Given the description of an element on the screen output the (x, y) to click on. 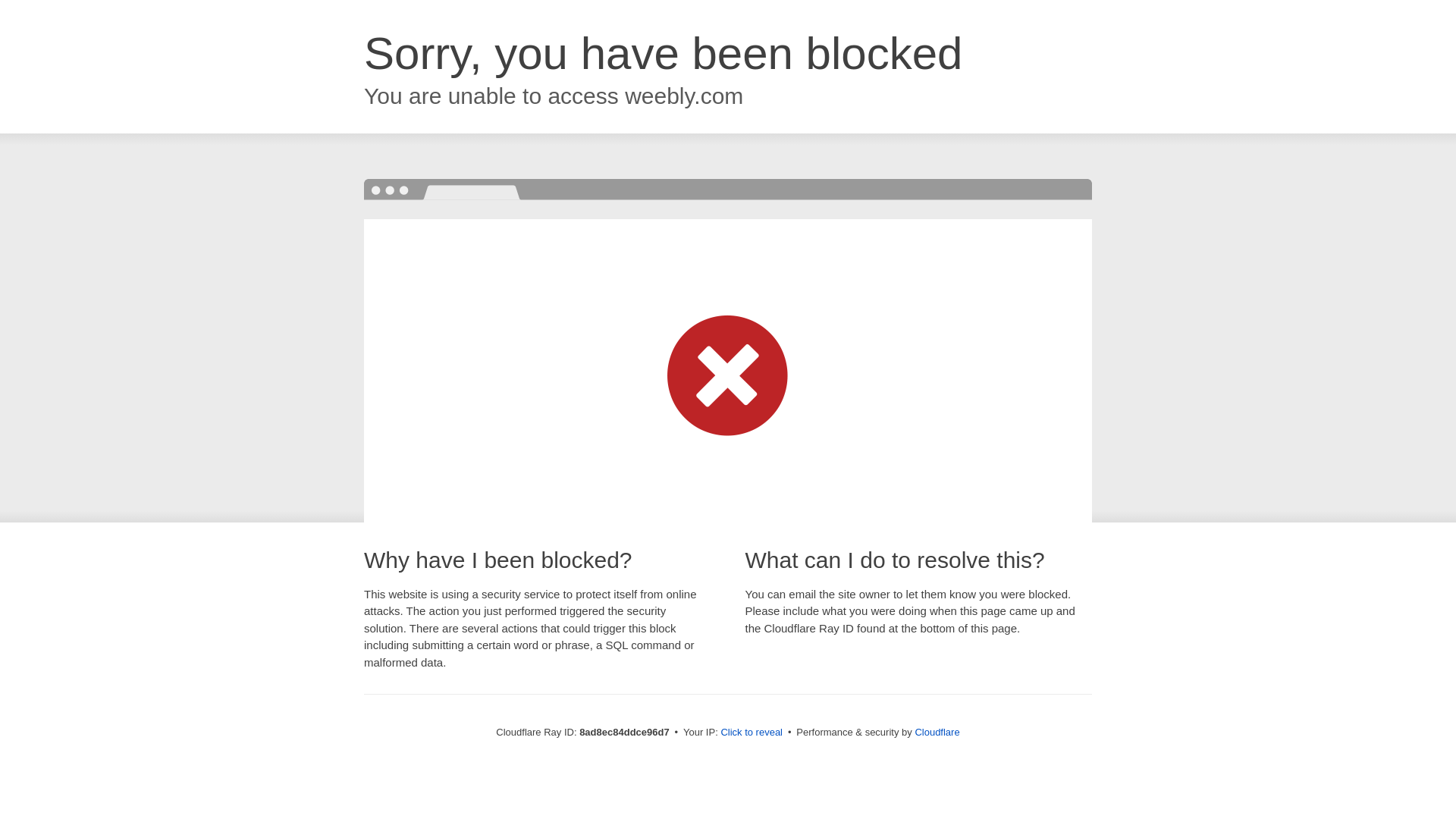
Click to reveal (751, 732)
Cloudflare (936, 731)
